Given the description of an element on the screen output the (x, y) to click on. 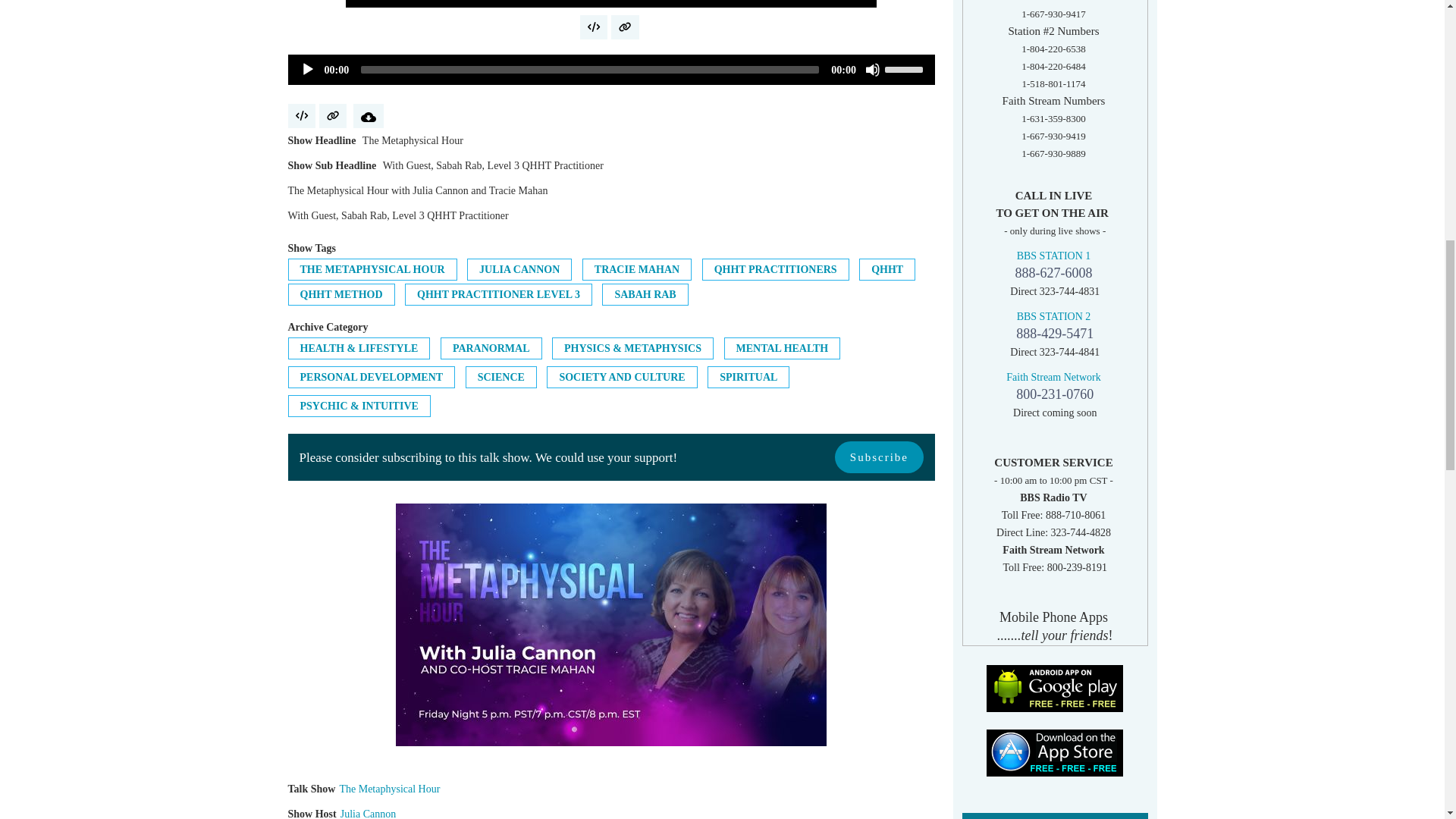
Copy video embed code (593, 27)
